Given the description of an element on the screen output the (x, y) to click on. 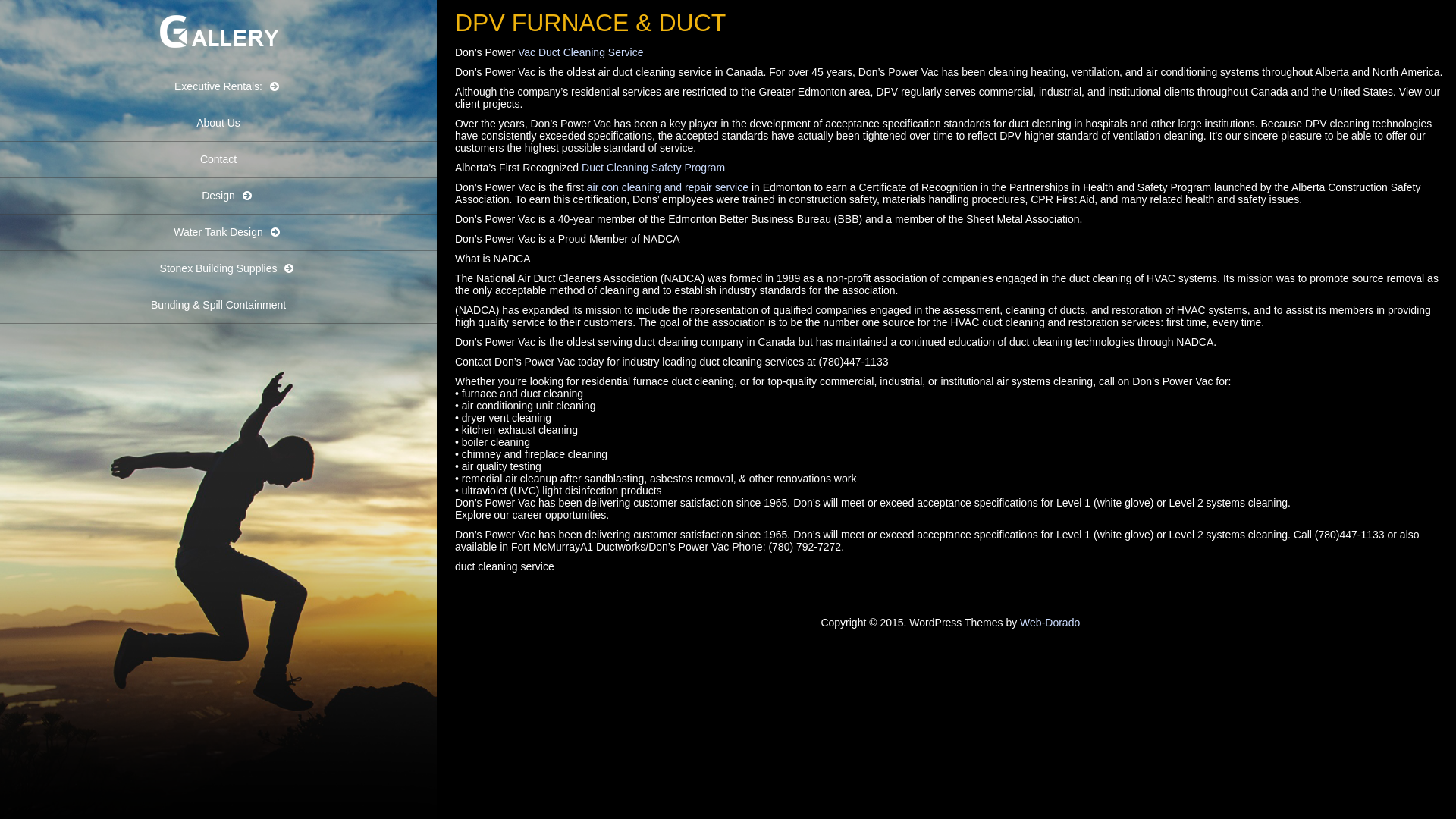
air con cleaning and repair service Element type: text (667, 187)
Design Element type: text (218, 196)
Duct Cleaning Safety Program Element type: text (652, 167)
About Us Element type: text (218, 123)
Water Tank Design Element type: text (218, 232)
Microstran Engineering Element type: hover (217, 59)
Contact Element type: text (218, 159)
Bunding & Spill Containment Element type: text (218, 305)
Web-Dorado Element type: text (1049, 622)
Executive Rentals: Element type: text (218, 87)
Stonex Building Supplies Element type: text (218, 269)
Vac Duct Cleaning Service Element type: text (580, 52)
